Given the description of an element on the screen output the (x, y) to click on. 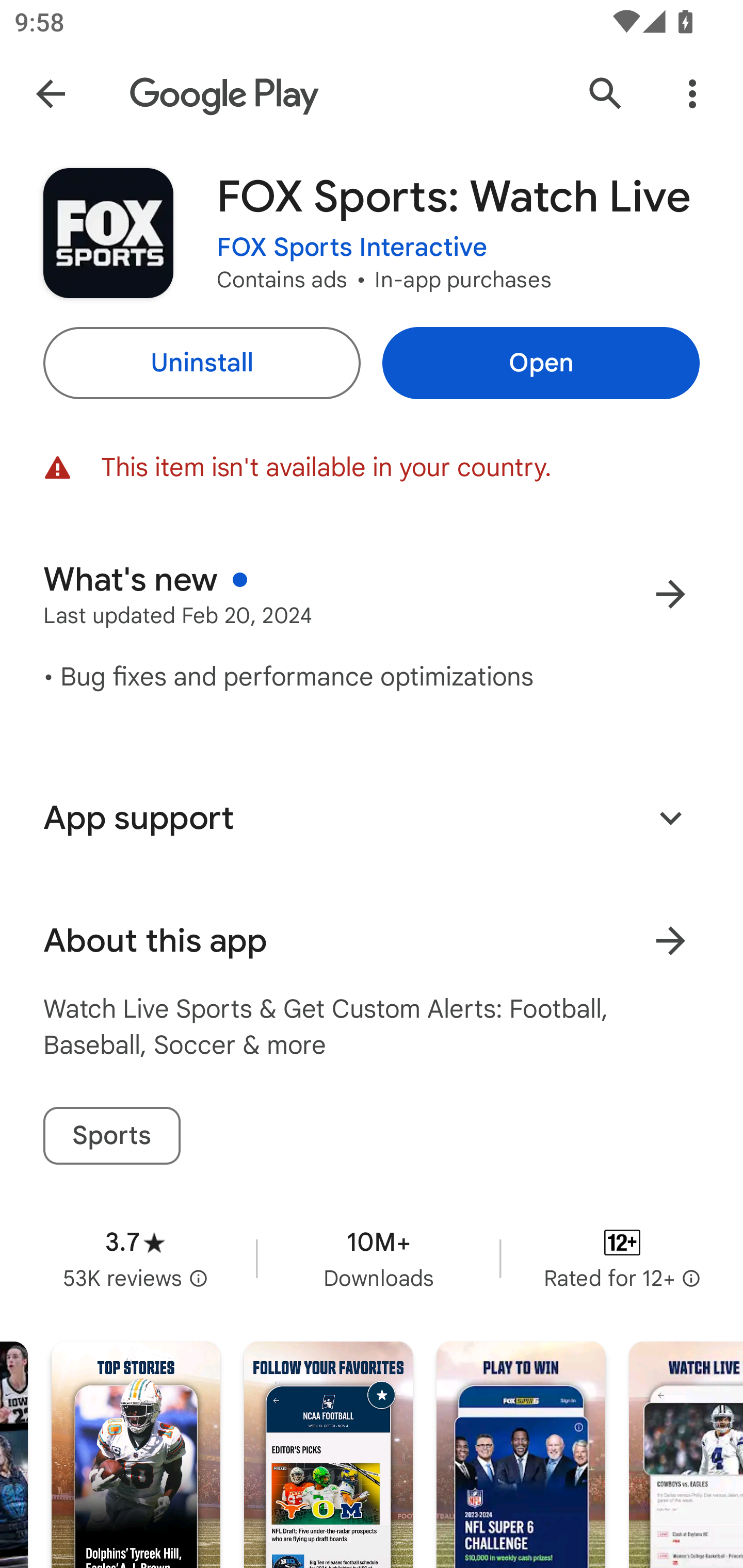
Navigate up (50, 93)
Search Google Play (605, 93)
More Options (692, 93)
FOX Sports Interactive (351, 247)
Uninstall (201, 362)
Open (540, 362)
More results for What's new (670, 594)
App support Expand (371, 817)
Expand (670, 817)
About this app Learn more About this app (371, 940)
Learn more About this app (670, 940)
Sports tag (111, 1135)
Average rating 3.7 stars in 53 thousand reviews (135, 1258)
Content rating Rated for 12+ (622, 1258)
Screenshot "1" of "5" (135, 1455)
Screenshot "2" of "5" (328, 1455)
Screenshot "3" of "5" (520, 1455)
Screenshot "4" of "5" (686, 1455)
